Given the description of an element on the screen output the (x, y) to click on. 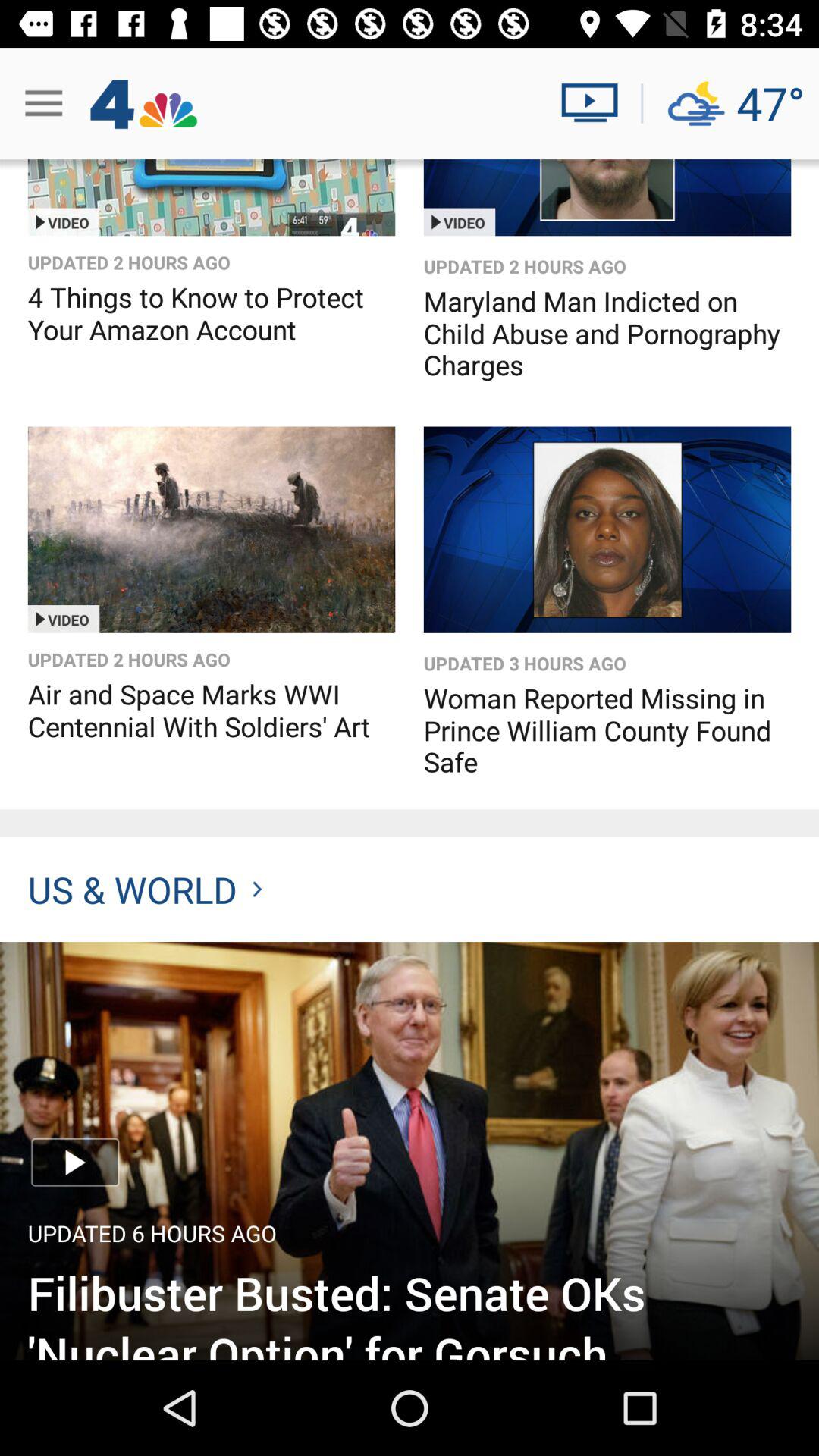
turn off us & world item (144, 889)
